Given the description of an element on the screen output the (x, y) to click on. 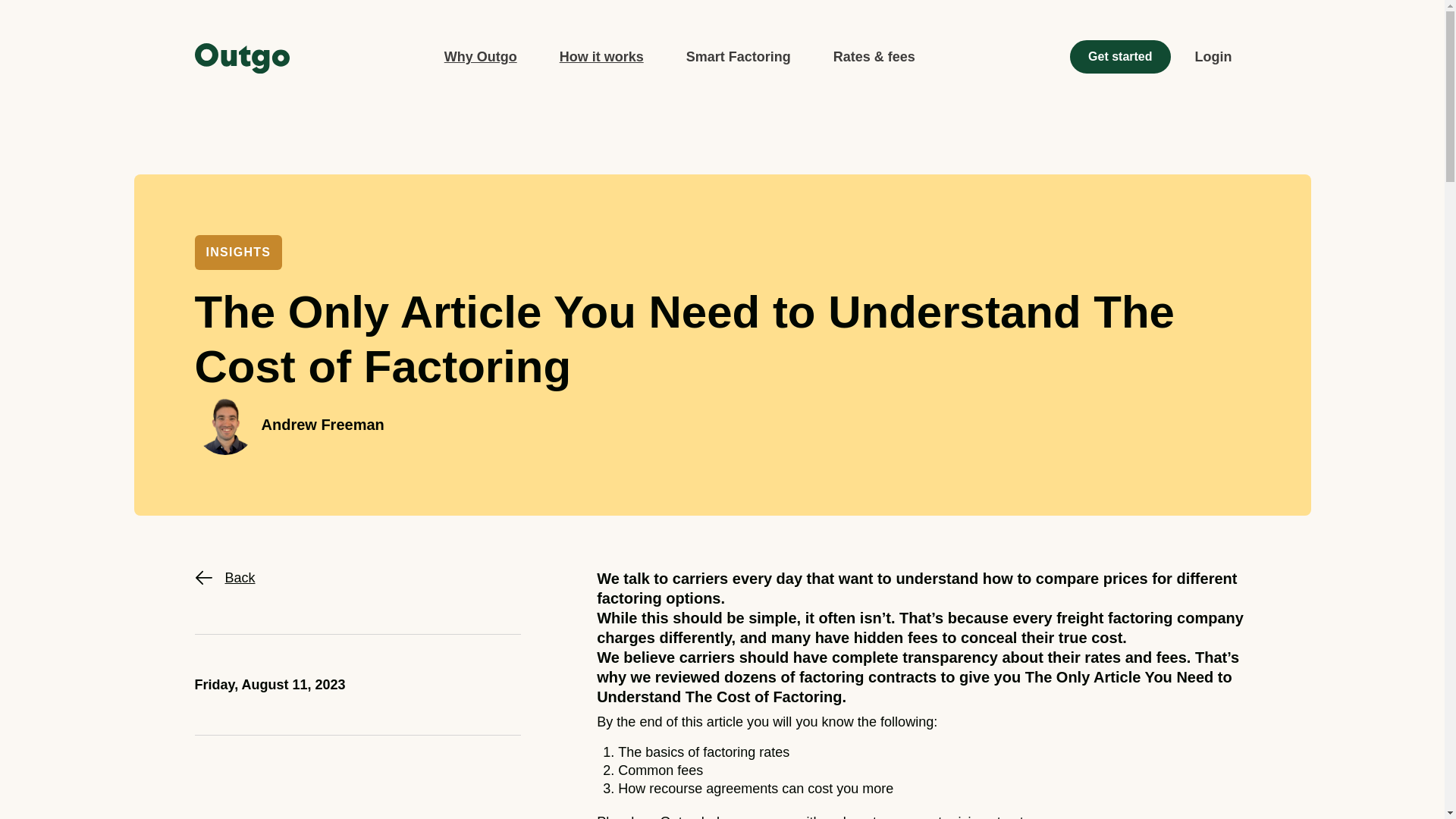
Why Outgo (480, 56)
Get started (1120, 56)
How it works (601, 56)
Smart Factoring (738, 56)
Login (1213, 56)
